Given the description of an element on the screen output the (x, y) to click on. 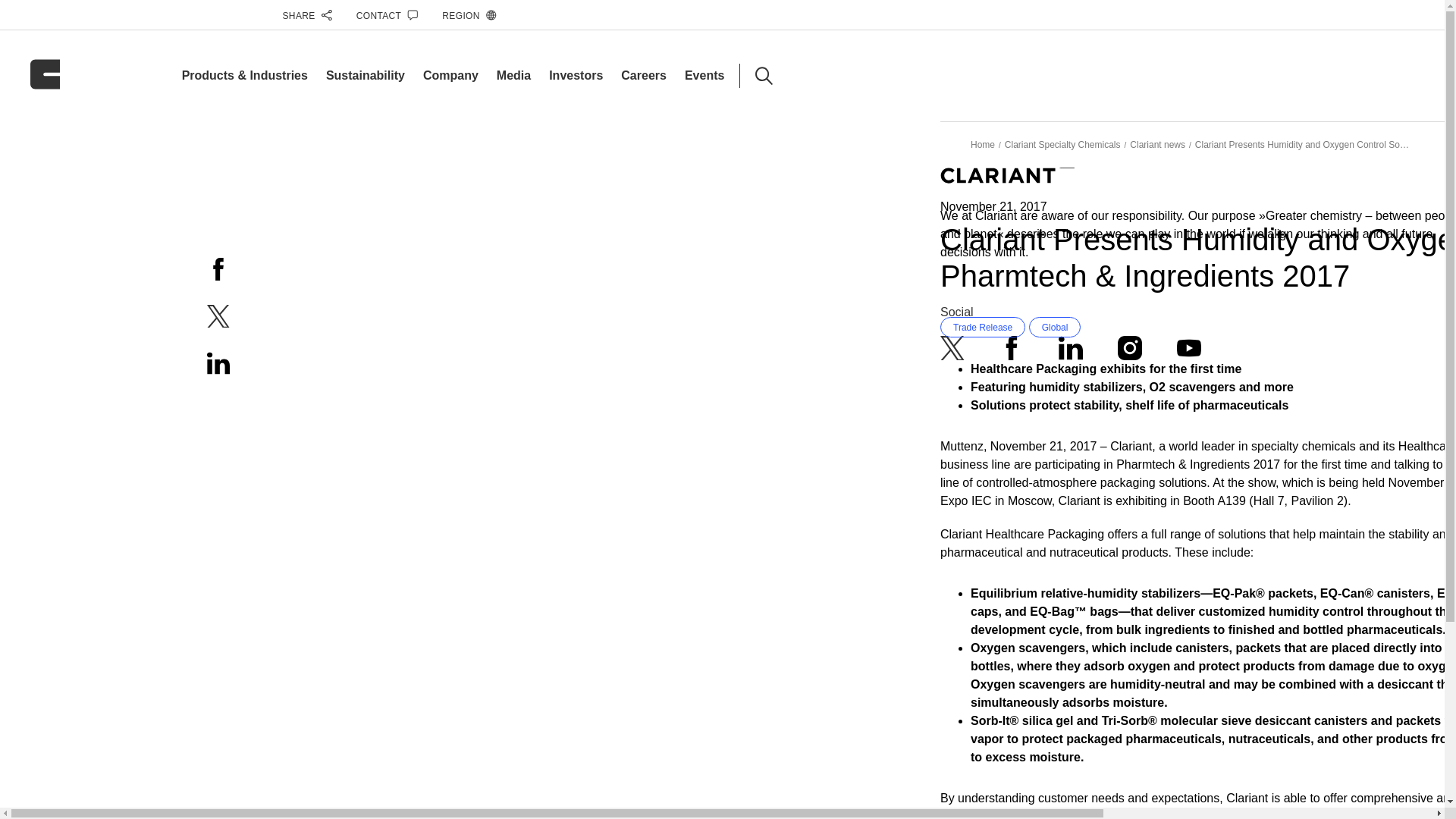
Sustainability (365, 74)
REGION (469, 14)
Company (451, 74)
Events (703, 74)
Media (513, 74)
Media (513, 74)
Sustainability (365, 74)
Company (451, 74)
SHARE (306, 14)
Home (982, 144)
Clariant news (1157, 144)
Clariant Specialty Chemicals (1062, 144)
Careers (643, 74)
Investors (575, 74)
CONTACT (387, 14)
